Given the description of an element on the screen output the (x, y) to click on. 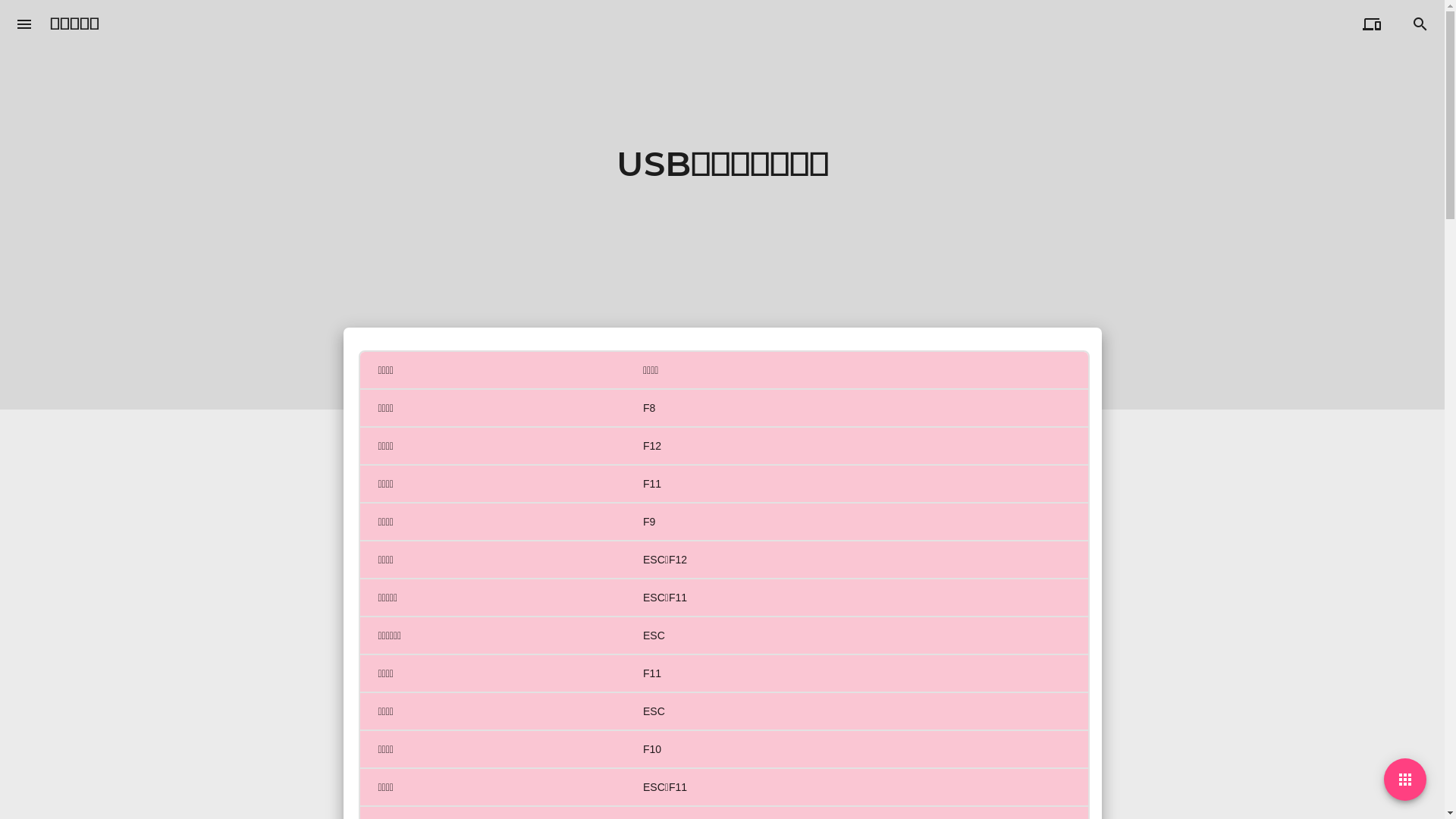
menu Element type: text (24, 24)
